Given the description of an element on the screen output the (x, y) to click on. 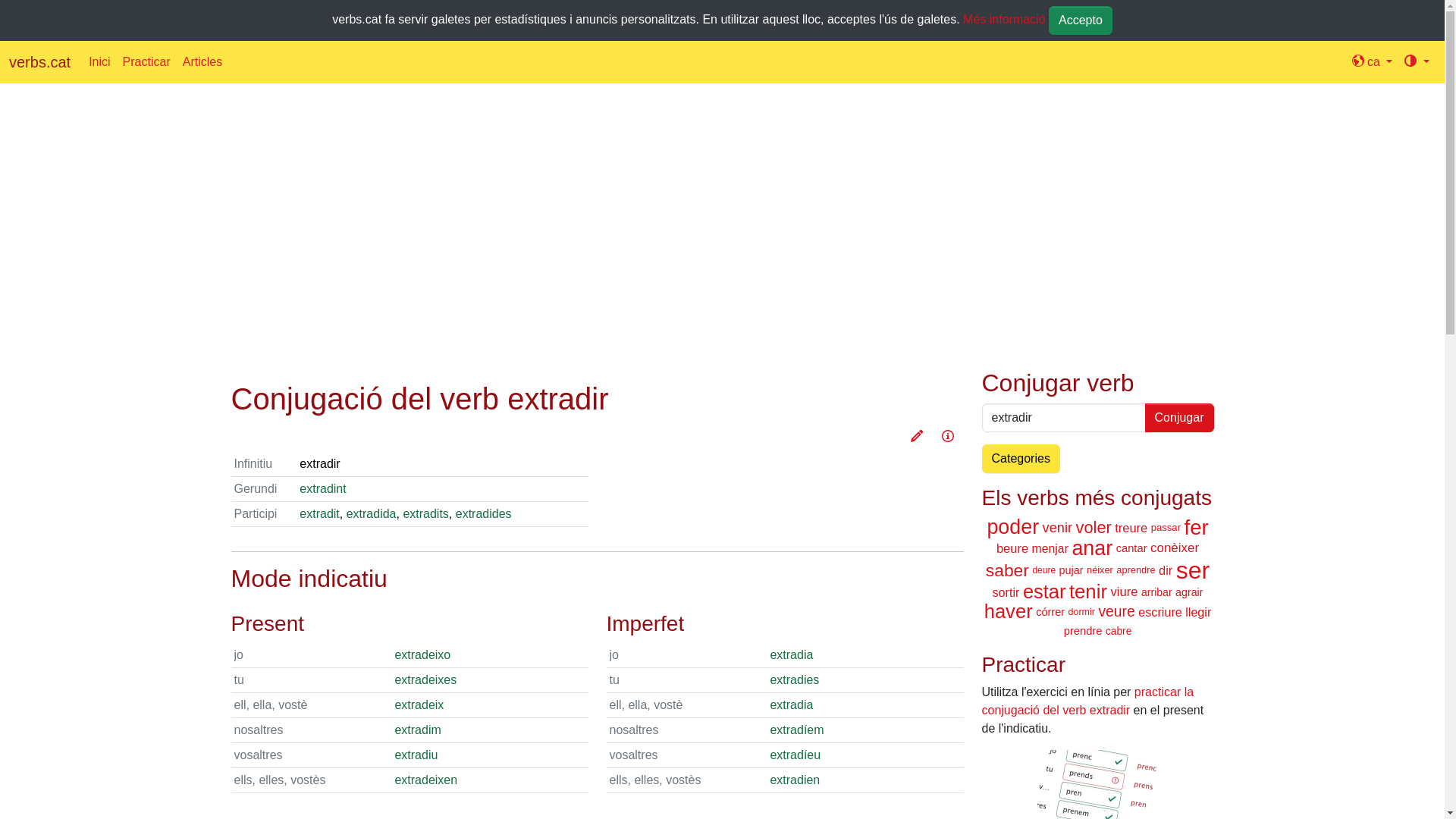
estar Element type: text (1044, 591)
deure Element type: text (1043, 569)
Articles Element type: text (202, 62)
tenir Element type: text (1088, 591)
poder Element type: text (1012, 526)
cantar Element type: text (1131, 548)
veure Element type: text (1116, 610)
cabre Element type: text (1118, 631)
beure Element type: text (1012, 548)
voler Element type: text (1093, 526)
sortir Element type: text (1005, 592)
Accepto Element type: text (1080, 20)
anar Element type: text (1091, 547)
saber Element type: text (1007, 570)
aprendre Element type: text (1135, 569)
Conjugar Element type: text (1179, 417)
Practicar aquest verb Element type: text (916, 437)
dormir Element type: text (1081, 611)
menjar Element type: text (1050, 547)
pujar Element type: text (1071, 570)
Inici Element type: text (99, 62)
treure Element type: text (1130, 526)
passar Element type: text (1165, 527)
ser Element type: text (1192, 569)
escriure Element type: text (1159, 611)
viure Element type: text (1123, 591)
Categories Element type: text (1020, 458)
Advertisement Element type: hover (685, 213)
haver Element type: text (1008, 610)
Info Element type: text (947, 437)
prendre Element type: text (1082, 630)
fer Element type: text (1195, 527)
dir Element type: text (1165, 570)
verbs.cat Element type: text (39, 62)
arribar Element type: text (1156, 592)
agrair Element type: text (1188, 592)
Practicar Element type: text (146, 62)
venir Element type: text (1057, 527)
llegir Element type: text (1198, 611)
ca Element type: text (1372, 62)
